Given the description of an element on the screen output the (x, y) to click on. 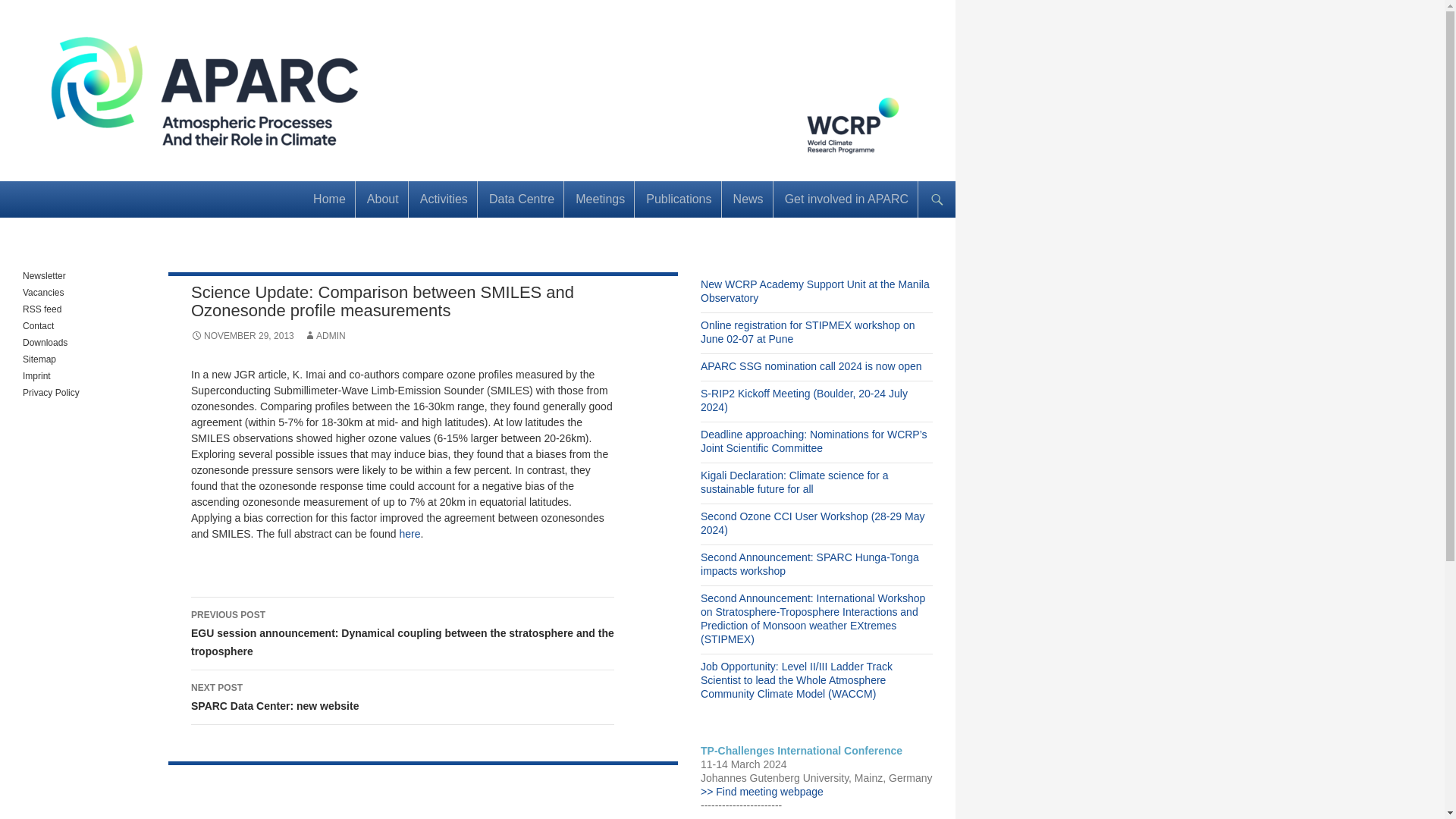
Get involved in APARC (846, 198)
New WCRP Academy Support Unit at the Manila Observatory (815, 290)
Vacancies (43, 292)
Contact (38, 326)
News (748, 198)
Second Announcement: SPARC Hunga-Tonga impacts workshop (809, 564)
Publications (678, 198)
About (382, 198)
here (409, 533)
Newsletter (44, 276)
Privacy Policy (51, 392)
Imprint (36, 376)
Home (329, 198)
RSS feed (42, 308)
APARC SSG nomination call 2024 is now open (810, 366)
